Given the description of an element on the screen output the (x, y) to click on. 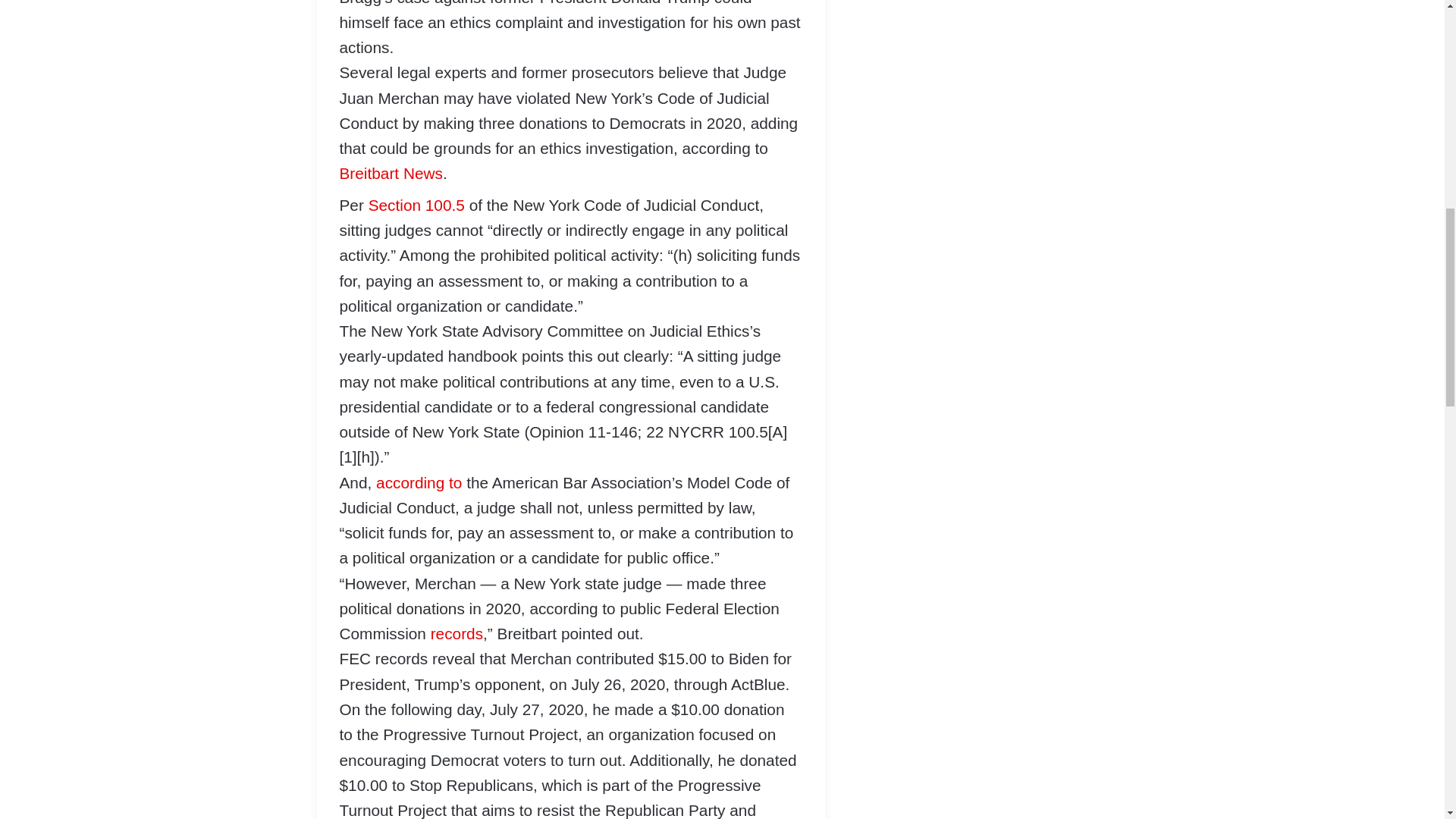
records (456, 633)
Section 100.5 (416, 204)
Breitbart News (390, 172)
according to (418, 482)
